Given the description of an element on the screen output the (x, y) to click on. 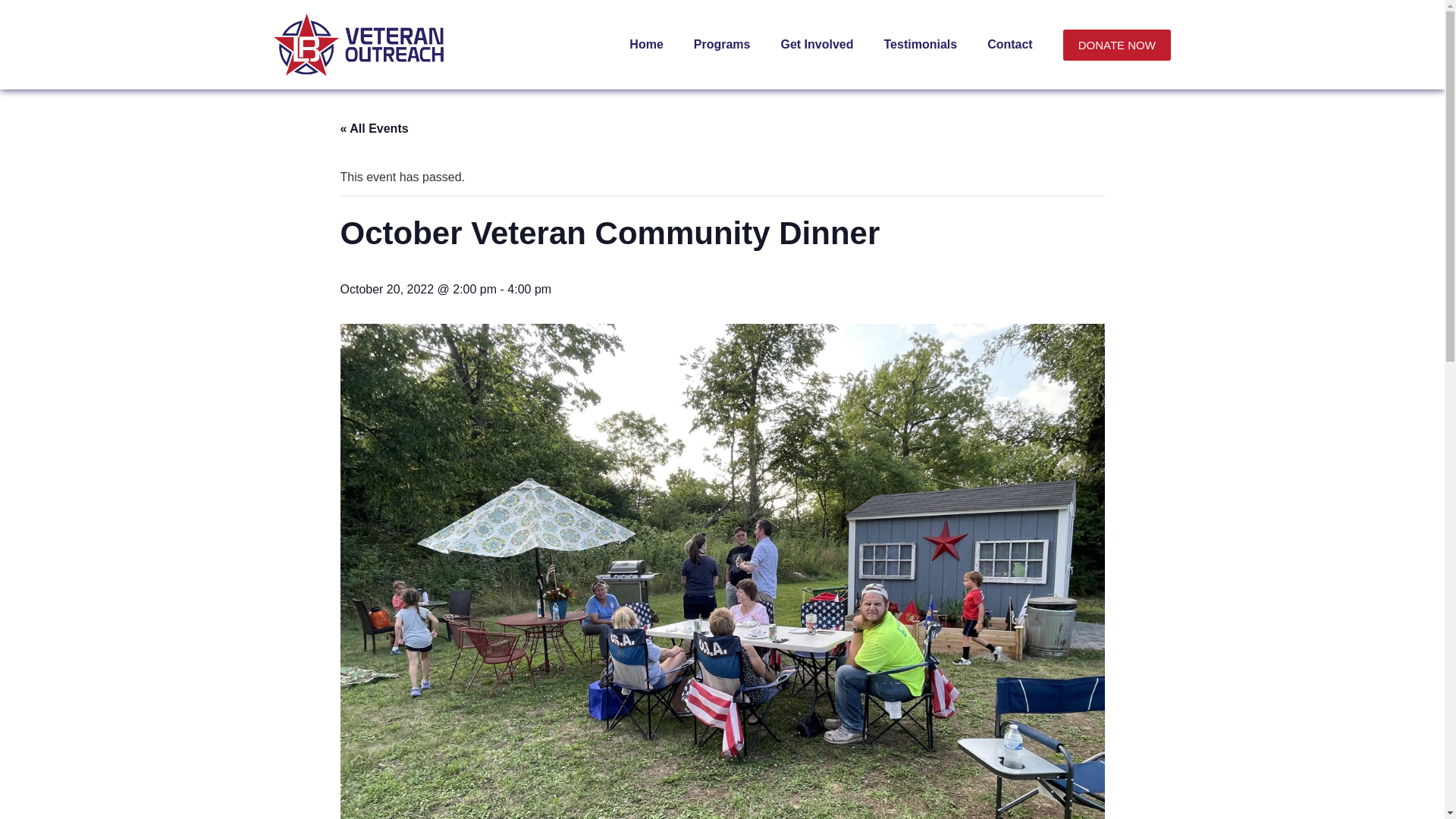
DONATE NOW (1116, 44)
Home (646, 44)
Programs (721, 44)
Contact (1010, 44)
Get Involved (816, 44)
Testimonials (920, 44)
